Given the description of an element on the screen output the (x, y) to click on. 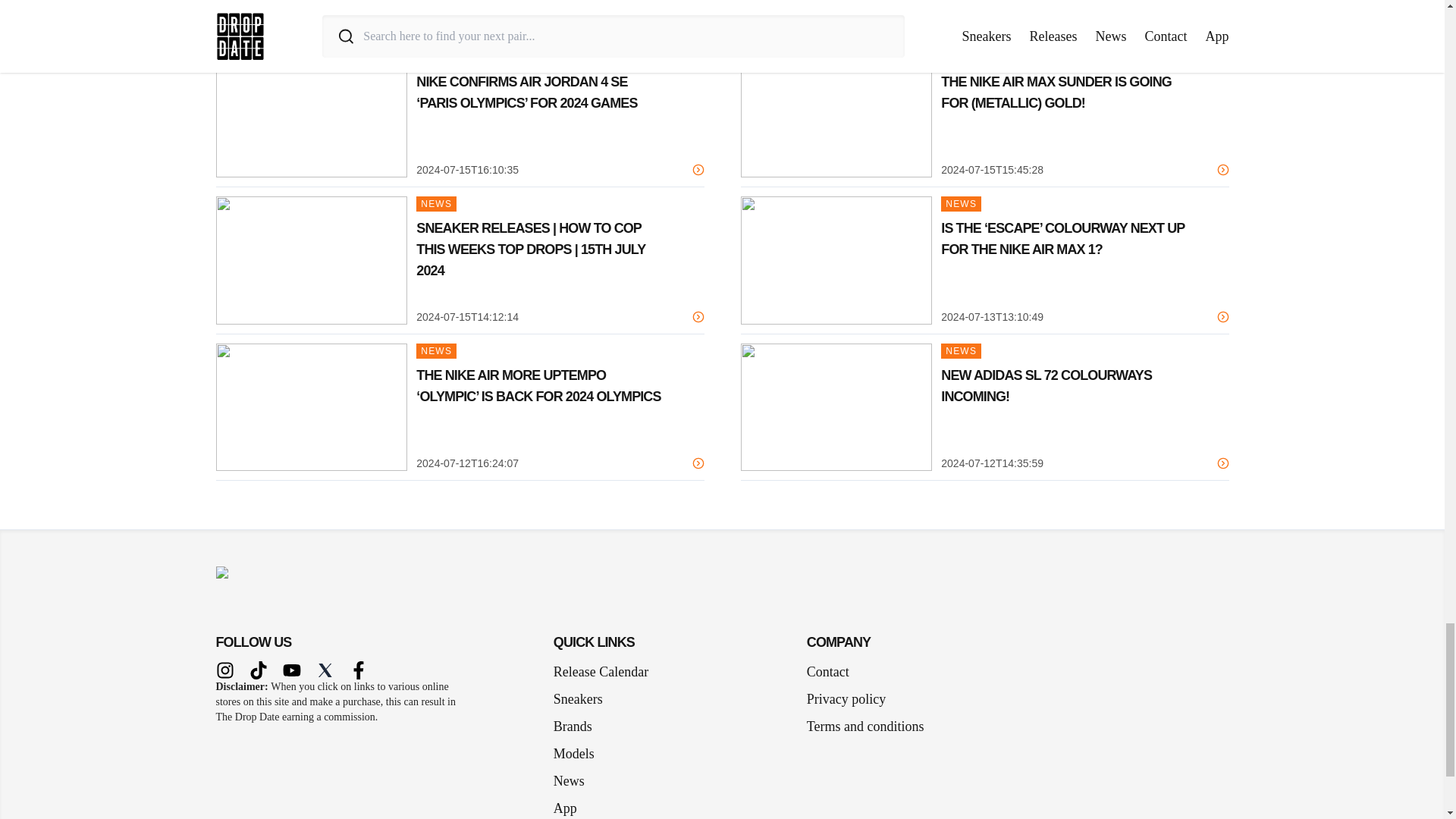
VIEW ALL (1201, 31)
